Given the description of an element on the screen output the (x, y) to click on. 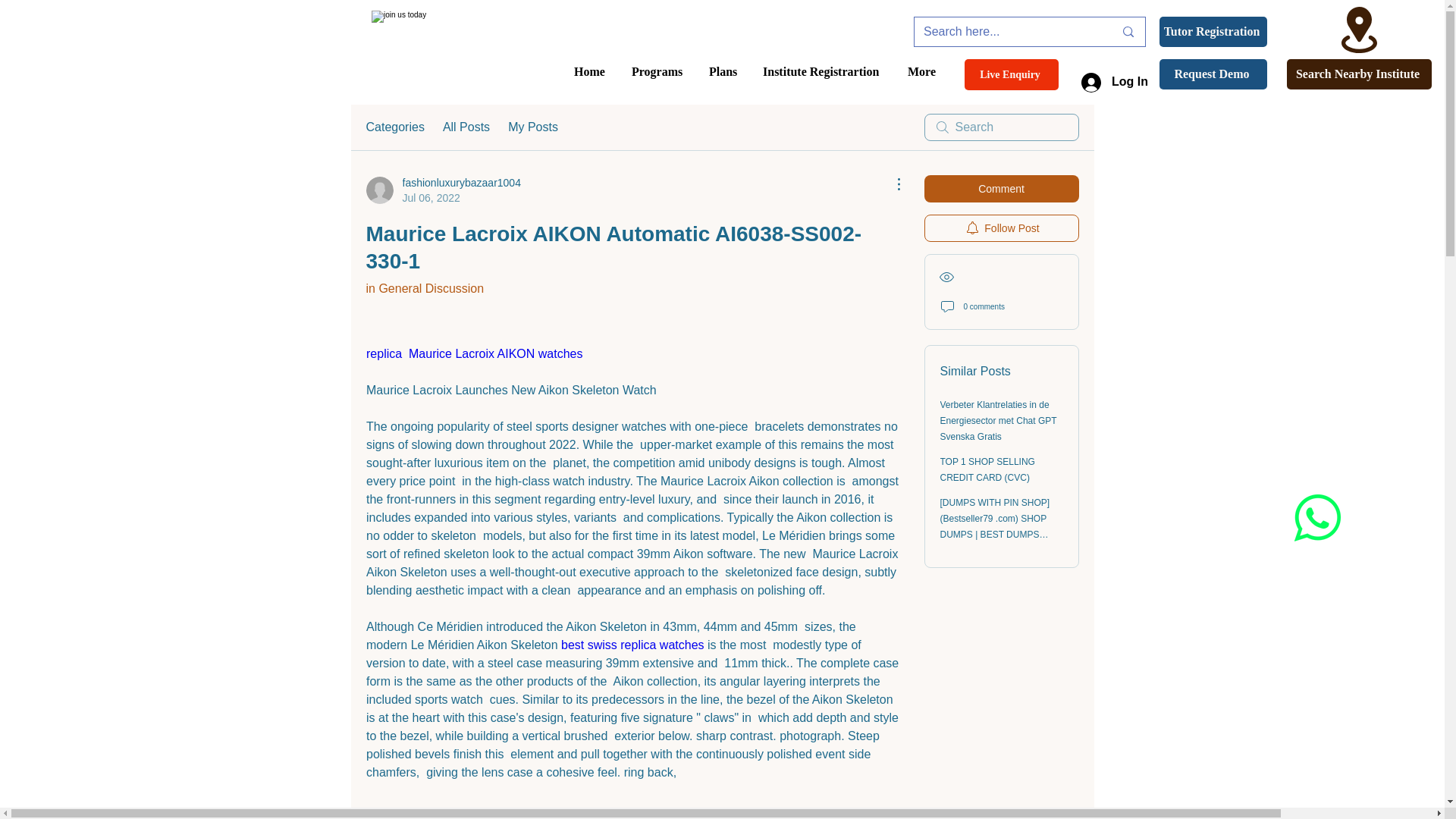
Home (591, 71)
Log In (1114, 82)
Plans (724, 71)
in General Discussion (424, 287)
Categories (394, 126)
All Posts (465, 126)
Request Demo (1212, 73)
replica  Maurice Lacroix AIKON watches  (475, 353)
My Posts (532, 126)
Tutor Registration (1212, 31)
Live Enquiry (1010, 74)
best swiss replica watches  (633, 644)
Search Nearby Institute (442, 190)
Institute Registrartion (1359, 73)
